Given the description of an element on the screen output the (x, y) to click on. 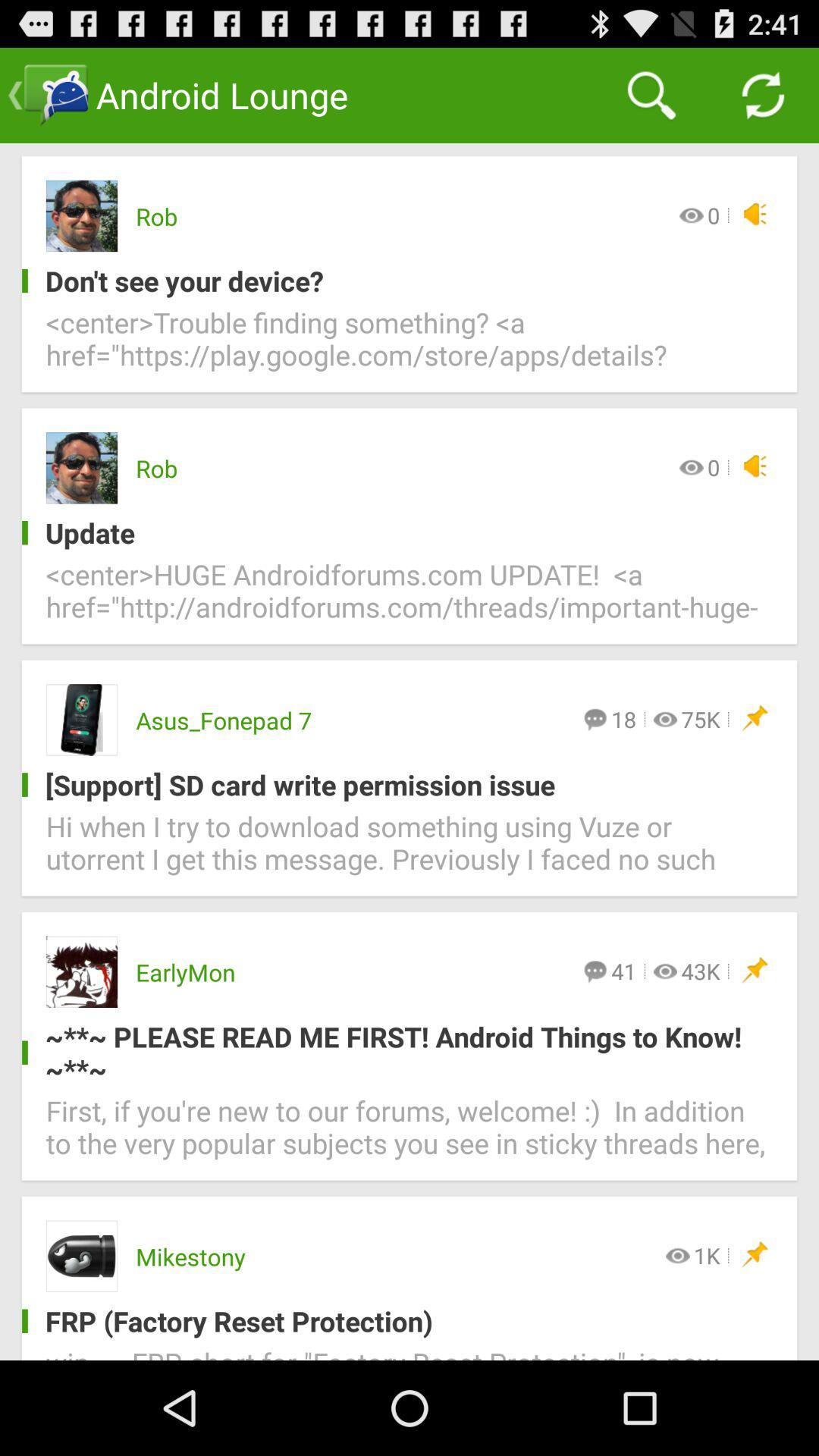
scroll until first if you icon (409, 1136)
